Given the description of an element on the screen output the (x, y) to click on. 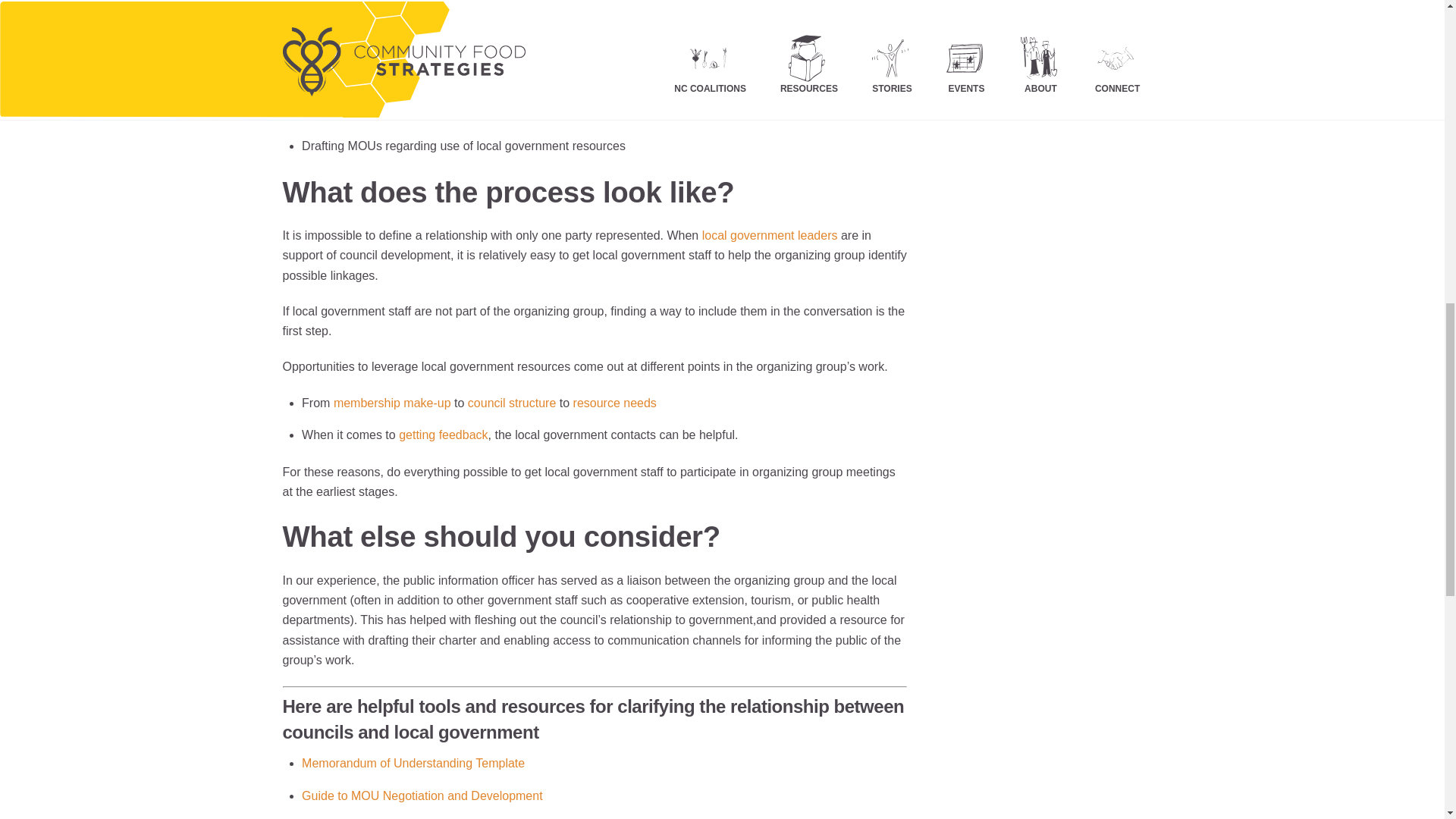
Recruit Council Members (392, 402)
Get Feedback (442, 434)
council structure (511, 402)
Secure Resources (614, 402)
getting feedback (442, 434)
local government leaders (769, 235)
membership make-up (392, 402)
Design Council Scaffolding (511, 402)
resource needs (614, 402)
Engage Local Government Leaders (769, 235)
